Given the description of an element on the screen output the (x, y) to click on. 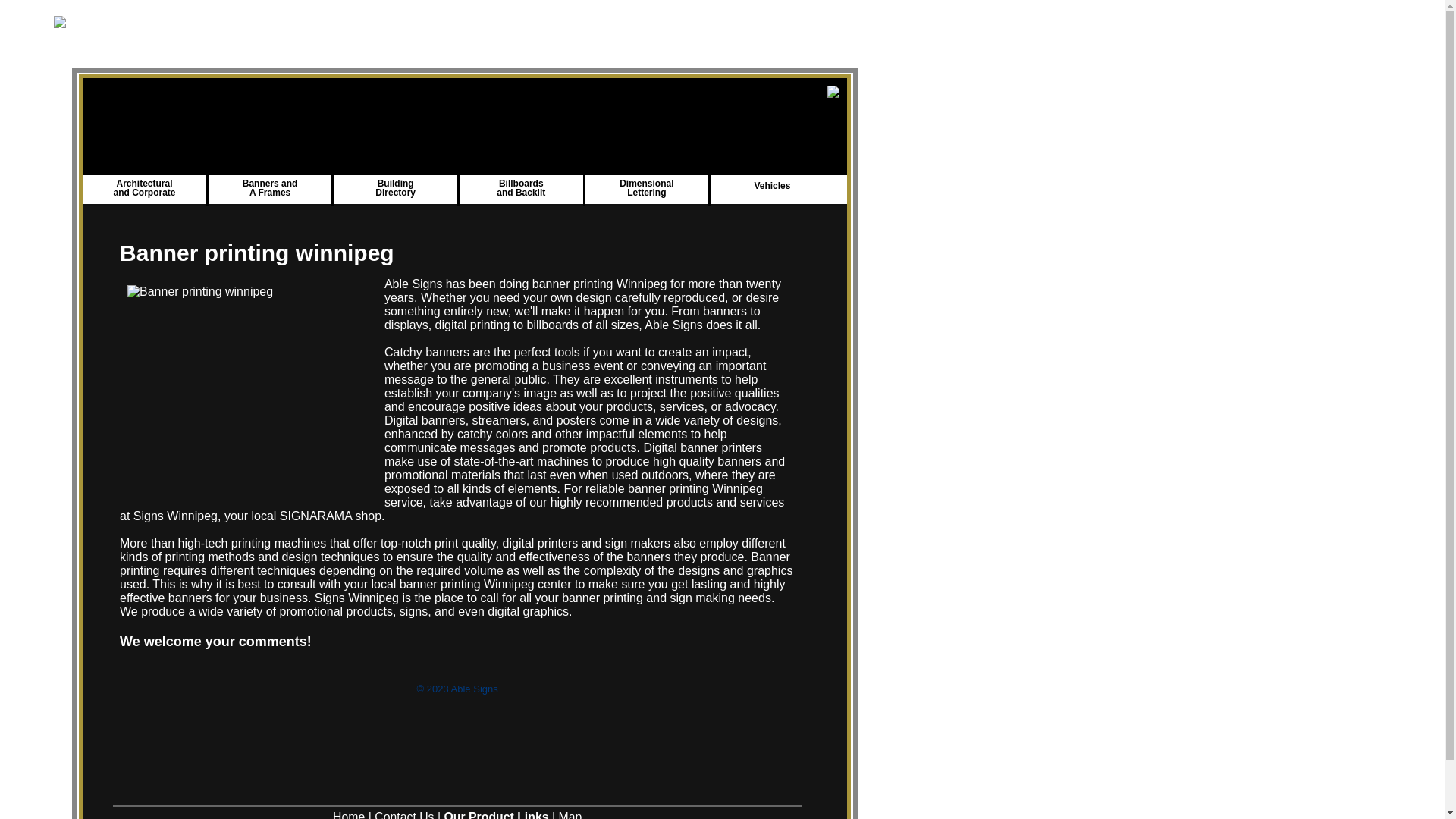
Dimensional
Lettering Element type: text (646, 187)
banner printing Winnipeg Element type: text (694, 488)
Building
Directory Element type: text (395, 187)
Billboards
and Backlit Element type: text (520, 187)
Vehicles Element type: text (771, 185)
Banner printing winnipeg Element type: text (456, 253)
Architectural
and Corporate Element type: text (144, 187)
Banners and
A Frames Element type: text (270, 187)
